Given the description of an element on the screen output the (x, y) to click on. 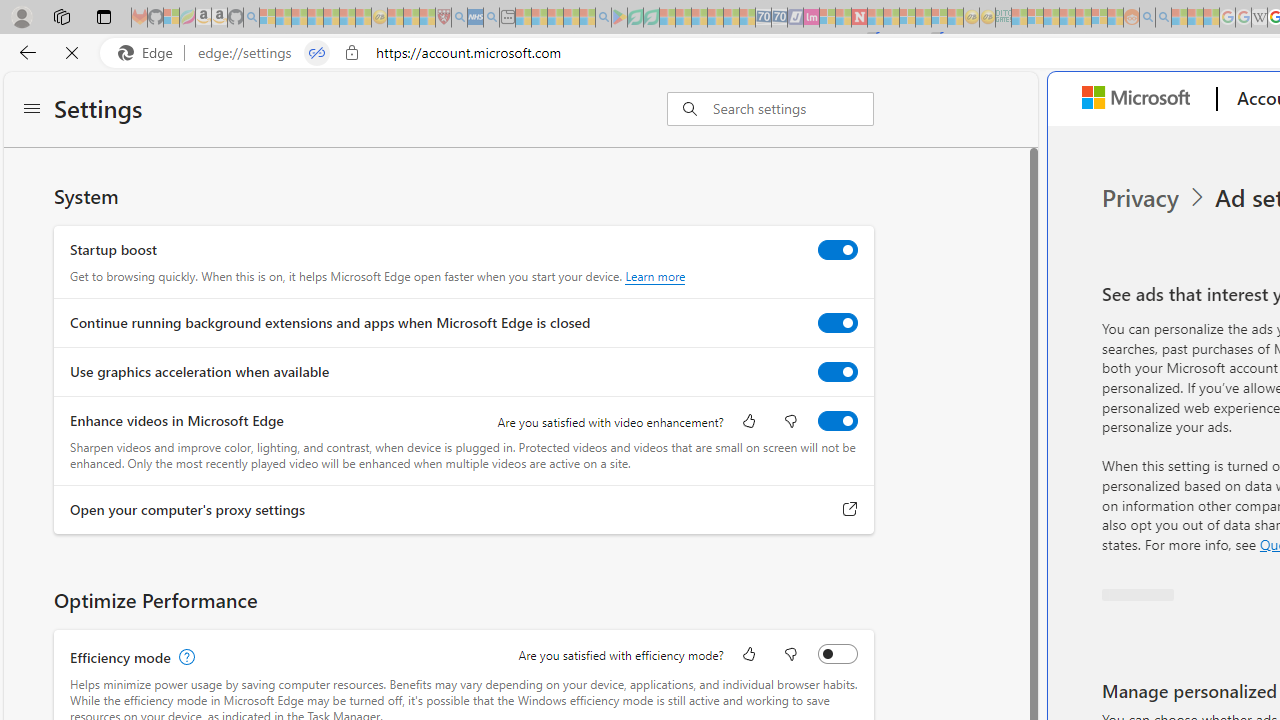
Efficiency mode (837, 653)
Kinda Frugal - MSN - Sleeping (1083, 17)
Tabs in split screen (317, 53)
Bluey: Let's Play! - Apps on Google Play - Sleeping (619, 17)
Target page - Wikipedia - Sleeping (1259, 17)
utah sues federal government - Search - Sleeping (491, 17)
